Given the description of an element on the screen output the (x, y) to click on. 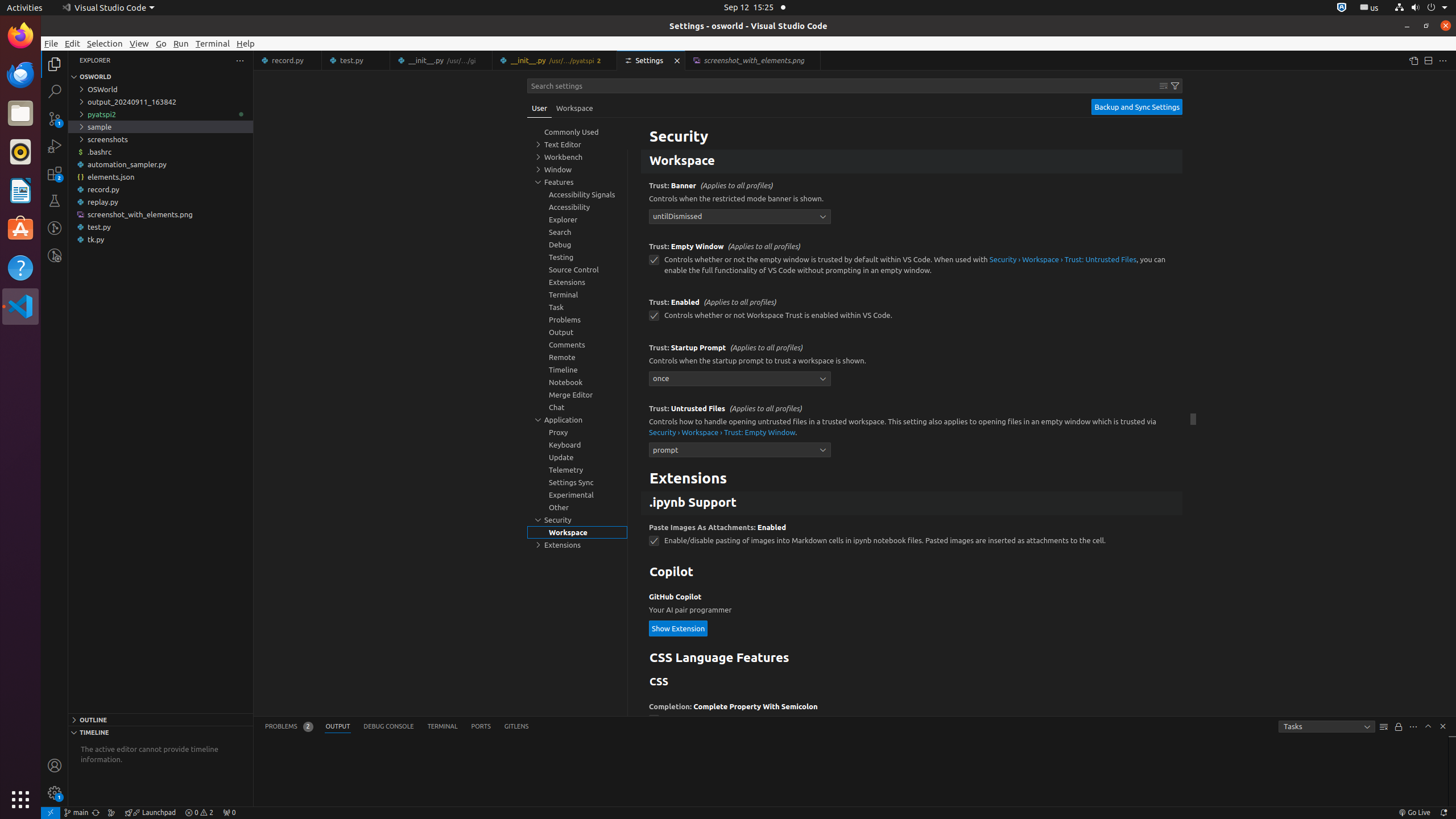
Show the GitLens Commit Graph Element type: push-button (111, 812)
Paste Images As Attachments Enabled. Enable/disable pasting of images into Markdown cells in ipynb notebook files. Pasted images are inserted as attachments to the cell.  Element type: tree-item (911, 537)
Application, group Element type: tree-item (577, 419)
Active View Switcher Element type: page-tab-list (396, 726)
screenshot_with_elements.png Element type: tree-item (160, 214)
